Given the description of an element on the screen output the (x, y) to click on. 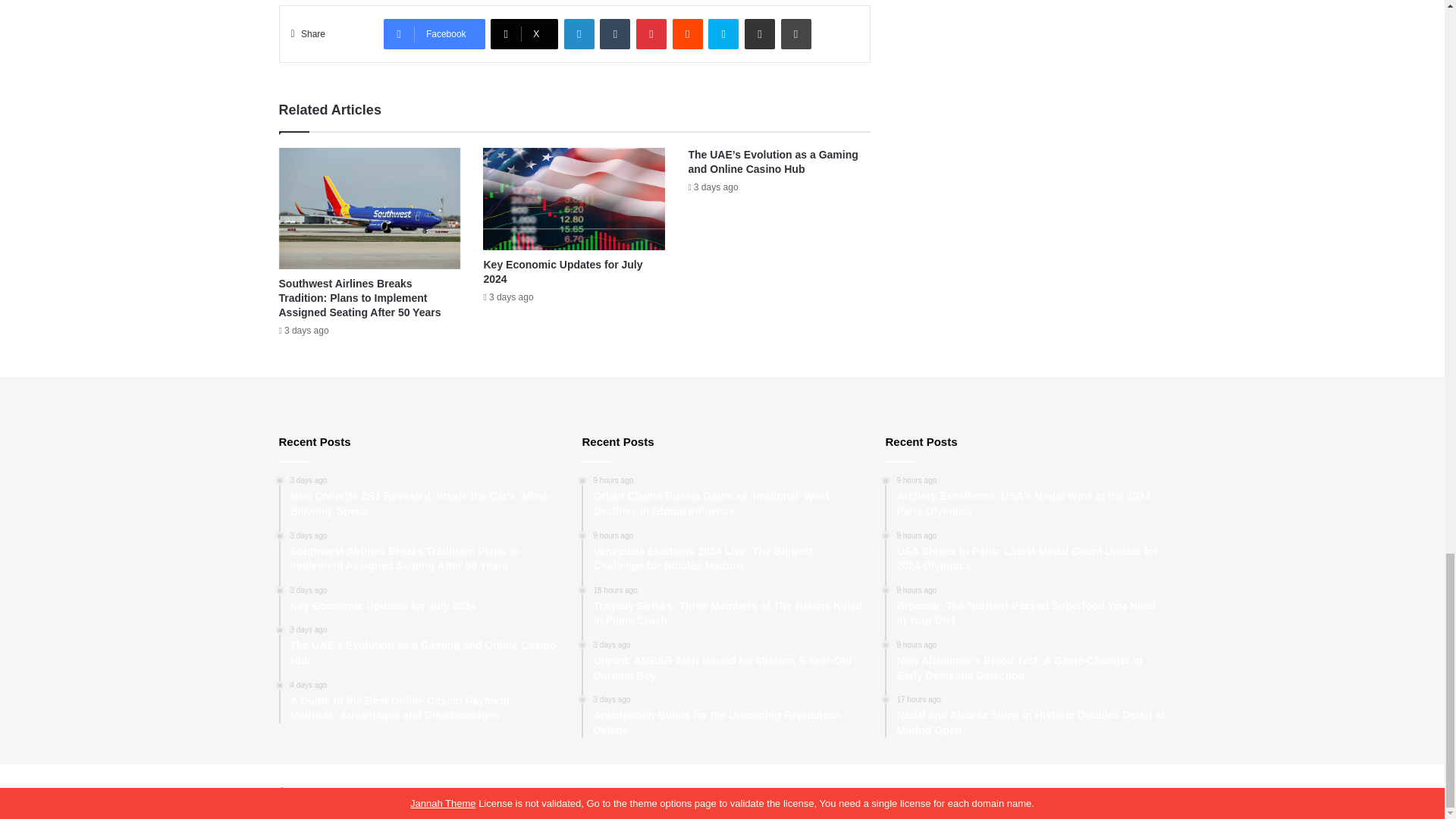
Pinterest (651, 33)
LinkedIn (579, 33)
Pinterest (651, 33)
Reddit (687, 33)
Skype (722, 33)
Facebook (434, 33)
Skype (722, 33)
Tumblr (614, 33)
X (523, 33)
Facebook (434, 33)
Print (795, 33)
X (523, 33)
Share via Email (759, 33)
Tumblr (614, 33)
LinkedIn (579, 33)
